Given the description of an element on the screen output the (x, y) to click on. 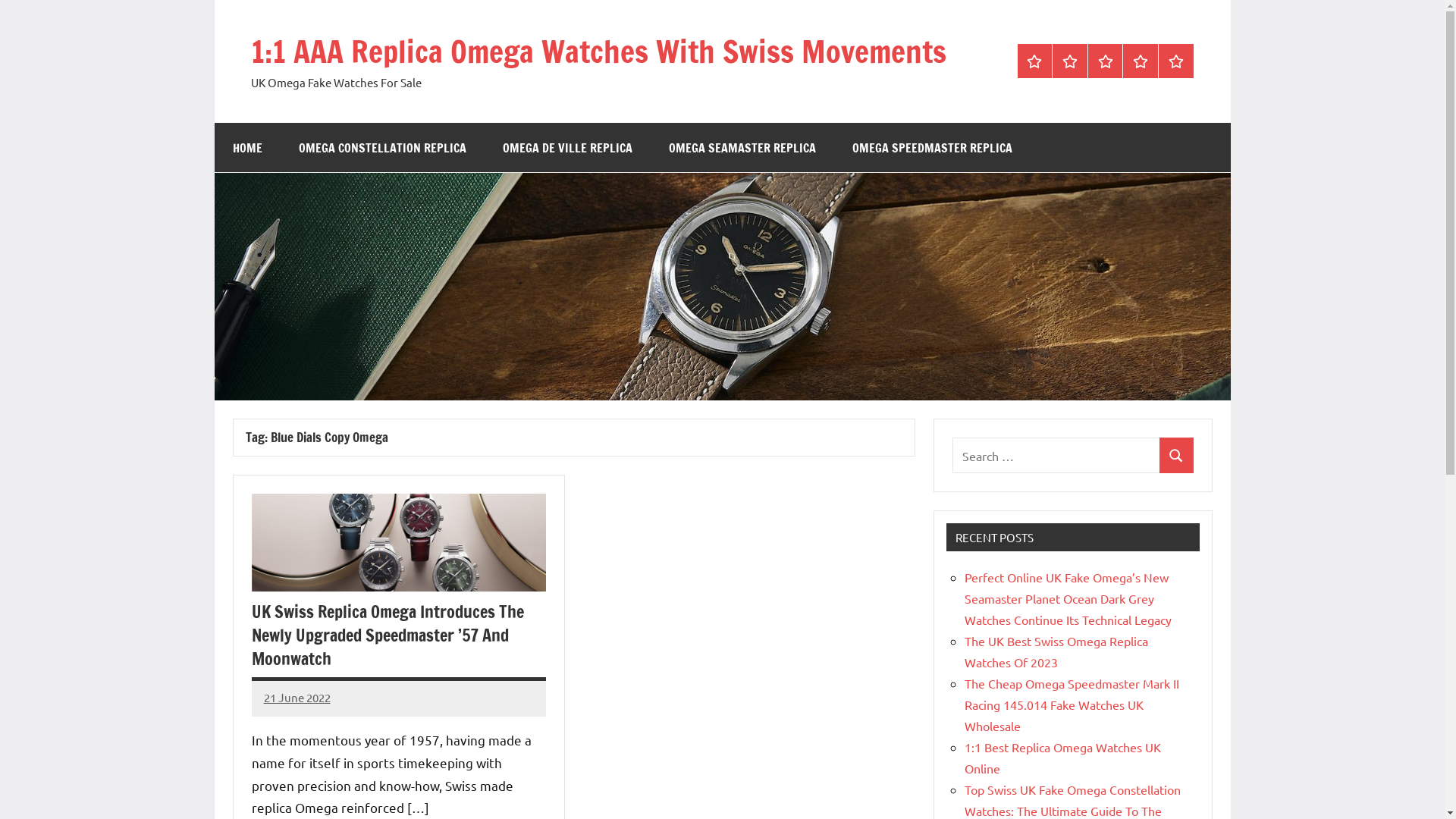
OMEGA SEAMASTER REPLICA Element type: text (742, 147)
Omega De Ville Replica Element type: text (1105, 60)
HOME Element type: text (246, 147)
1:1 AAA Replica Omega Watches With Swiss Movements Element type: text (597, 50)
The UK Best Swiss Omega Replica Watches Of 2023 Element type: text (1056, 651)
21 June 2022 Element type: text (296, 697)
OMEGA SPEEDMASTER REPLICA Element type: text (932, 147)
1:1 Best Replica Omega Watches UK Online Element type: text (1062, 757)
Omega Constellation Replica Element type: text (1069, 60)
Home Element type: text (1034, 60)
Omega Speedmaster Replica Element type: text (1175, 60)
OMEGA CONSTELLATION REPLICA Element type: text (382, 147)
Search for: Element type: hover (1056, 455)
Omega Seamaster Replica Element type: text (1140, 60)
OMEGA DE VILLE REPLICA Element type: text (566, 147)
